Given the description of an element on the screen output the (x, y) to click on. 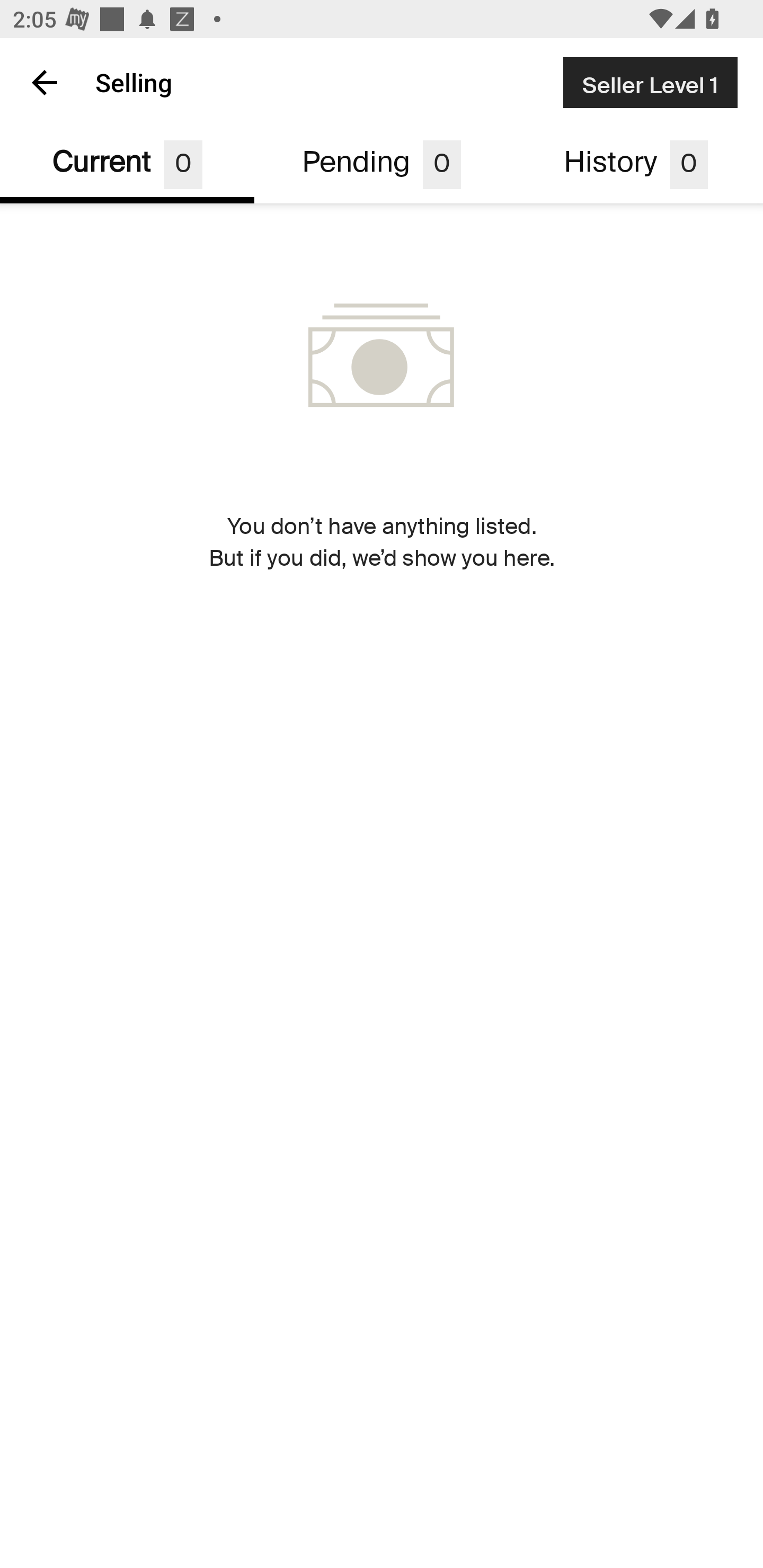
Navigate up (44, 82)
Seller Level 1 (650, 82)
Pending 0 (381, 165)
History 0 (635, 165)
